Given the description of an element on the screen output the (x, y) to click on. 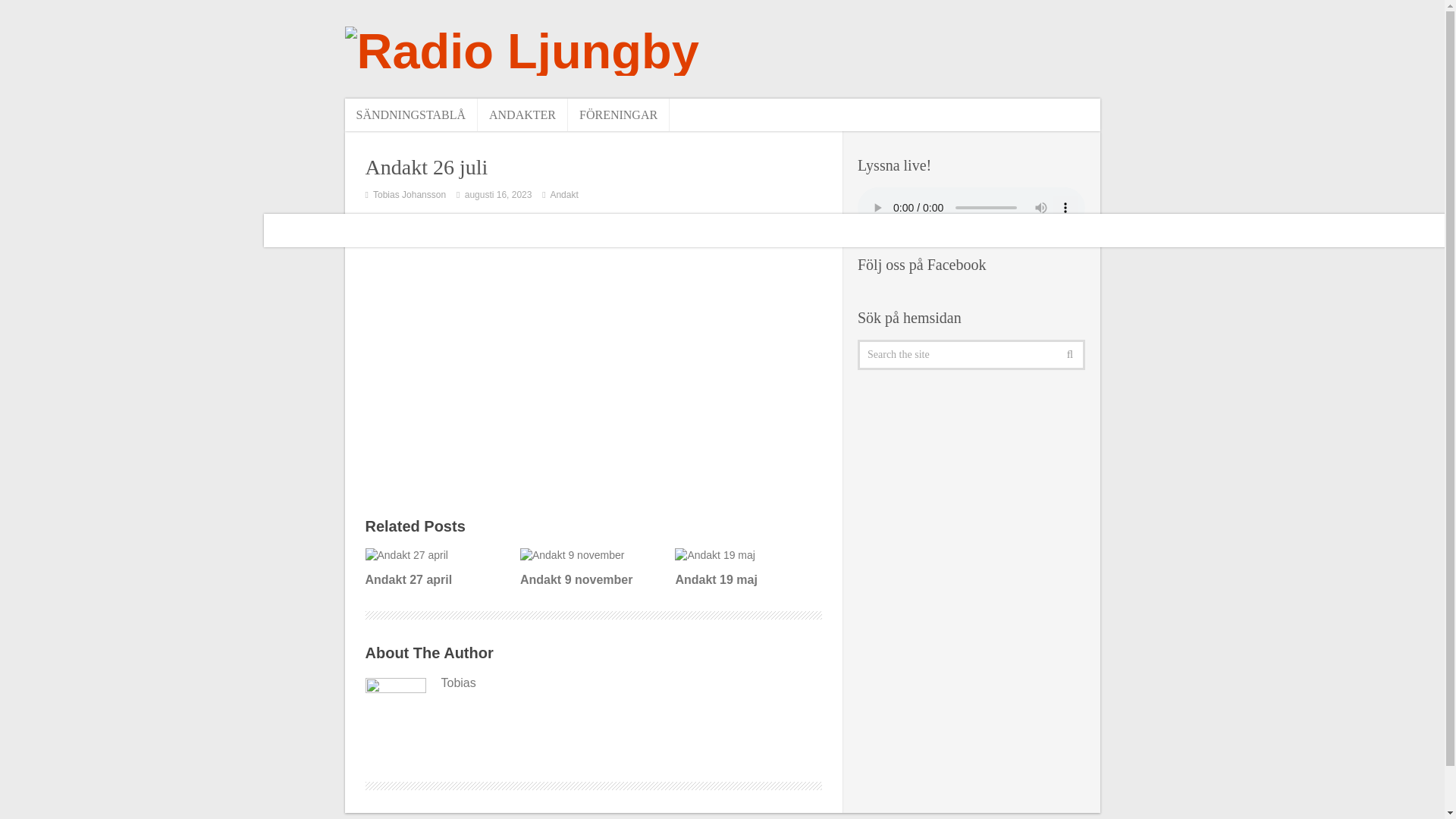
Andakt 19 maj (746, 567)
Andakt 19 maj (746, 567)
Andakt 9 november (591, 567)
Andakt 27 april (437, 567)
Onsdag 26 juli (593, 343)
View all posts in Andakt (564, 194)
ANDAKTER (522, 114)
Tobias Johansson (408, 194)
Andakt 27 april (437, 567)
Tobias (593, 682)
Andakt (564, 194)
Andakt 9 november (591, 567)
